Given the description of an element on the screen output the (x, y) to click on. 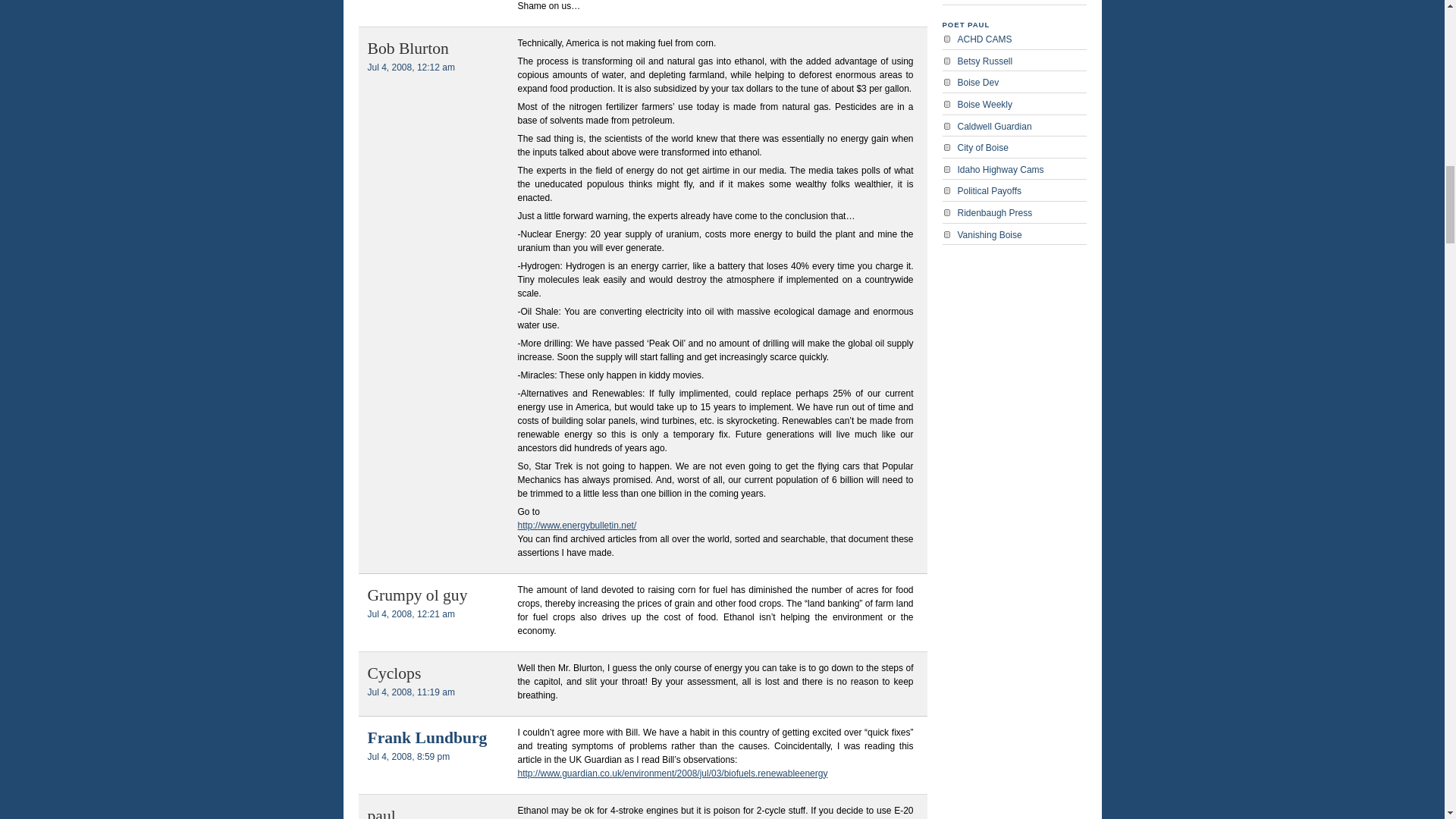
Jul 4, 2008, 12:21 am (410, 614)
Jul 4, 2008, 12:12 am (410, 67)
Jul 4, 2008, 8:59 pm (407, 756)
Jul 4, 2008, 11:19 am (410, 692)
Frank Lundburg (426, 737)
